Given the description of an element on the screen output the (x, y) to click on. 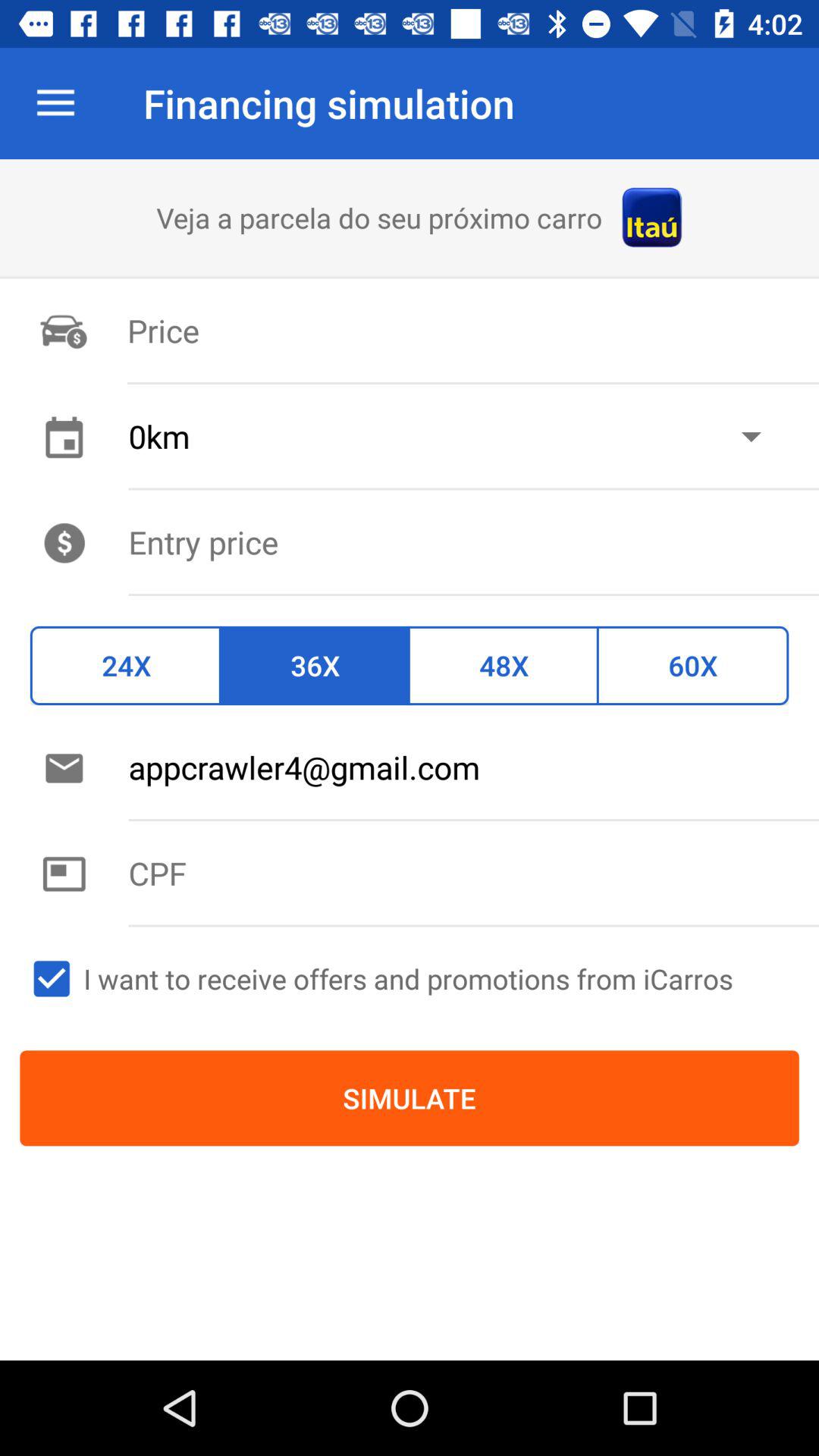
text box to enter (473, 872)
